Given the description of an element on the screen output the (x, y) to click on. 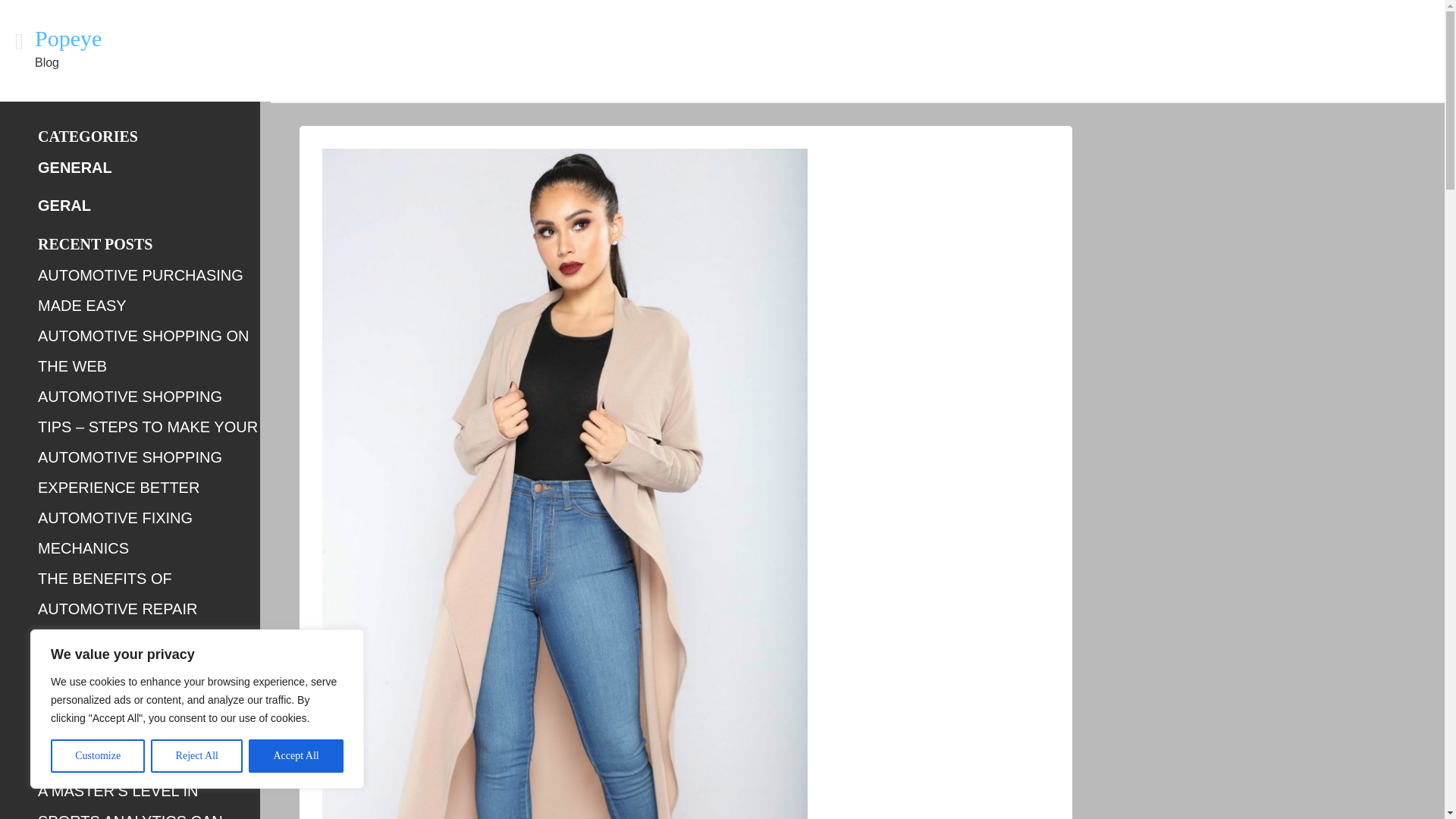
Customize (97, 756)
Accept All (295, 756)
Popeye (67, 37)
Reject All (197, 756)
